Given the description of an element on the screen output the (x, y) to click on. 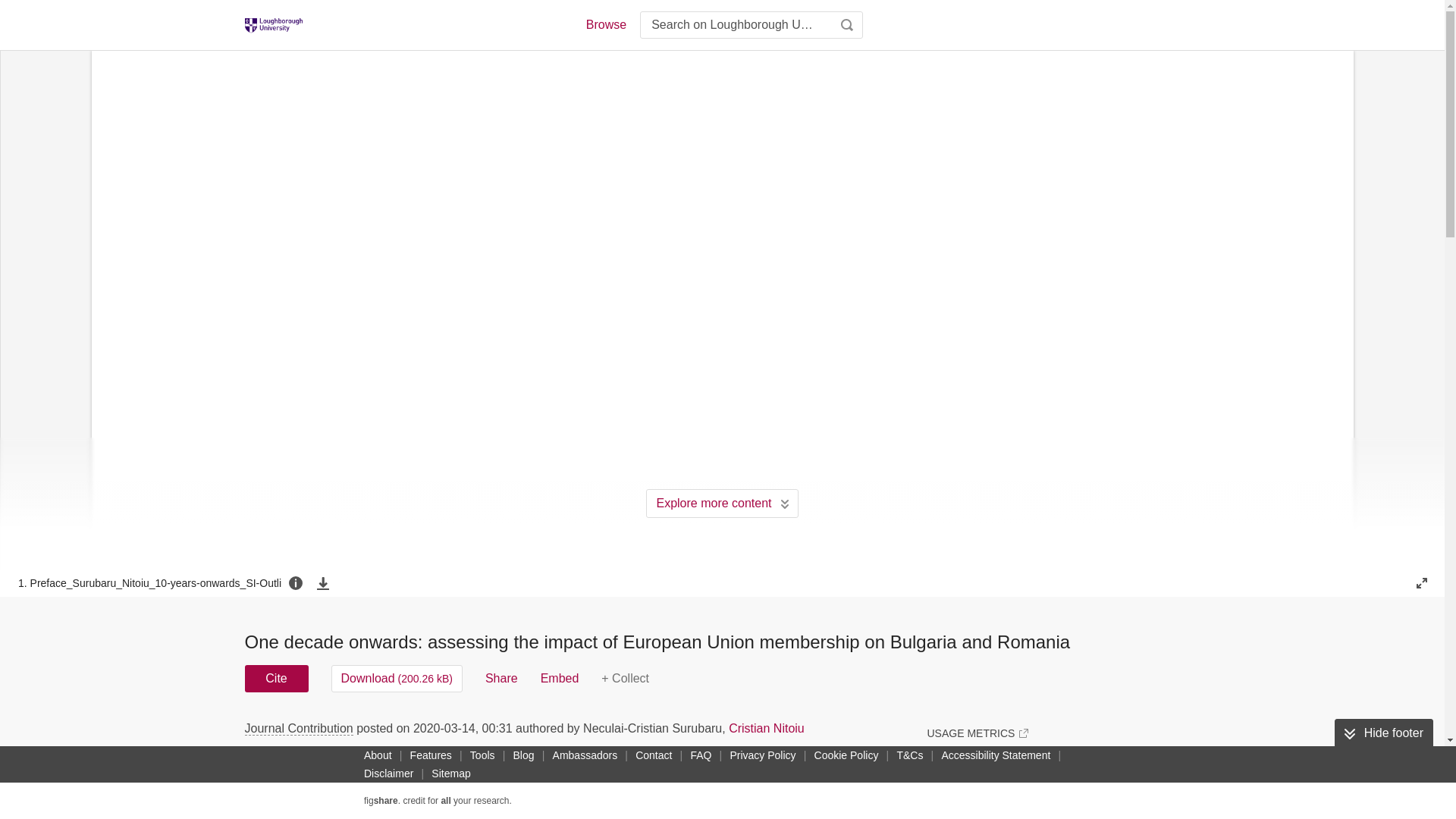
Cite (275, 678)
Blog (523, 755)
Share (501, 678)
Features (431, 755)
USAGE METRICS (976, 732)
Browse (605, 24)
Hide footer (1383, 733)
you need to log in first (625, 678)
Cristian Nitoiu (767, 727)
Explore more content (721, 502)
Embed (559, 678)
Tools (482, 755)
About (377, 755)
